Given the description of an element on the screen output the (x, y) to click on. 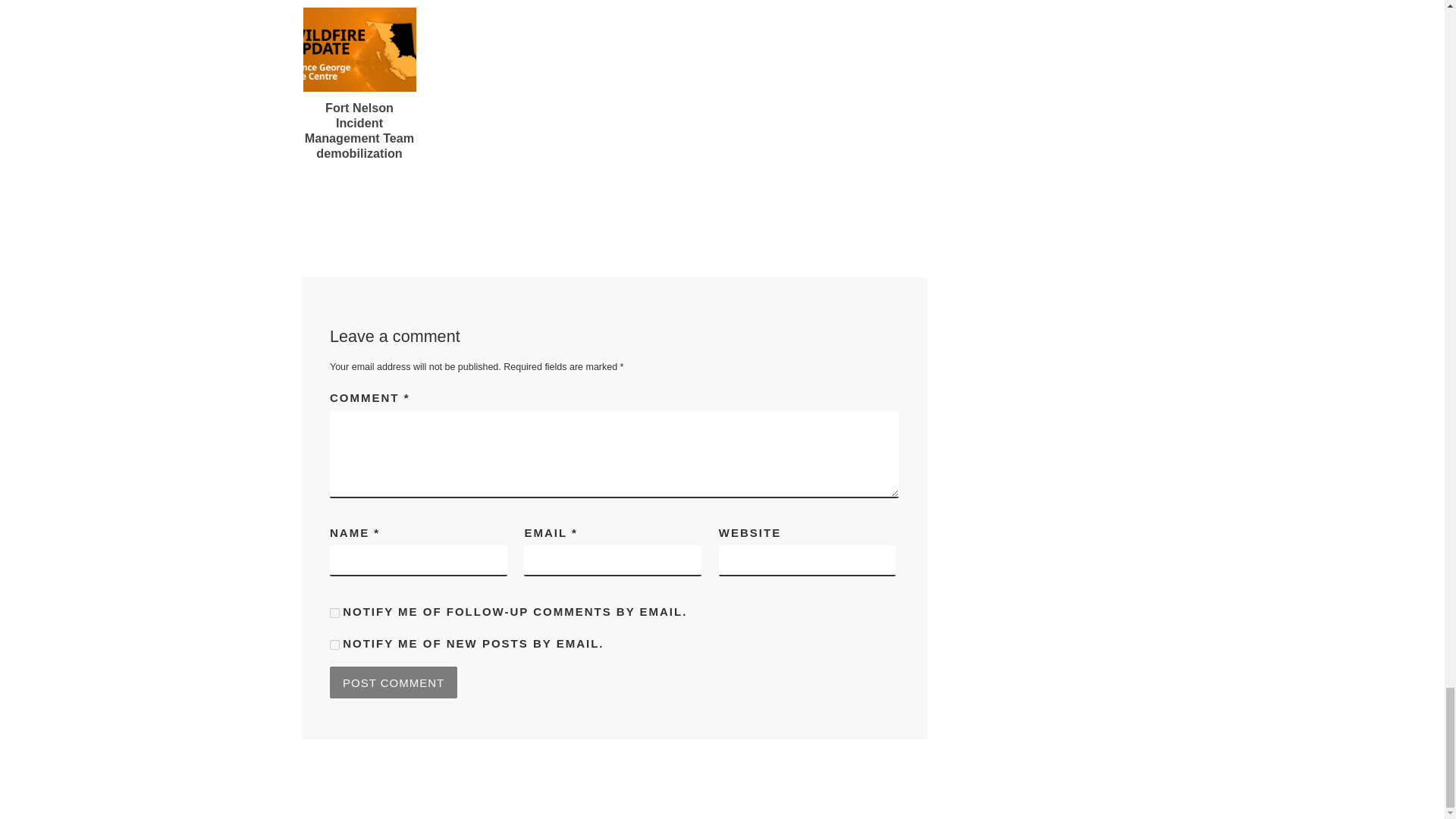
Post Comment (393, 682)
subscribe (334, 613)
subscribe (334, 644)
